Given the description of an element on the screen output the (x, y) to click on. 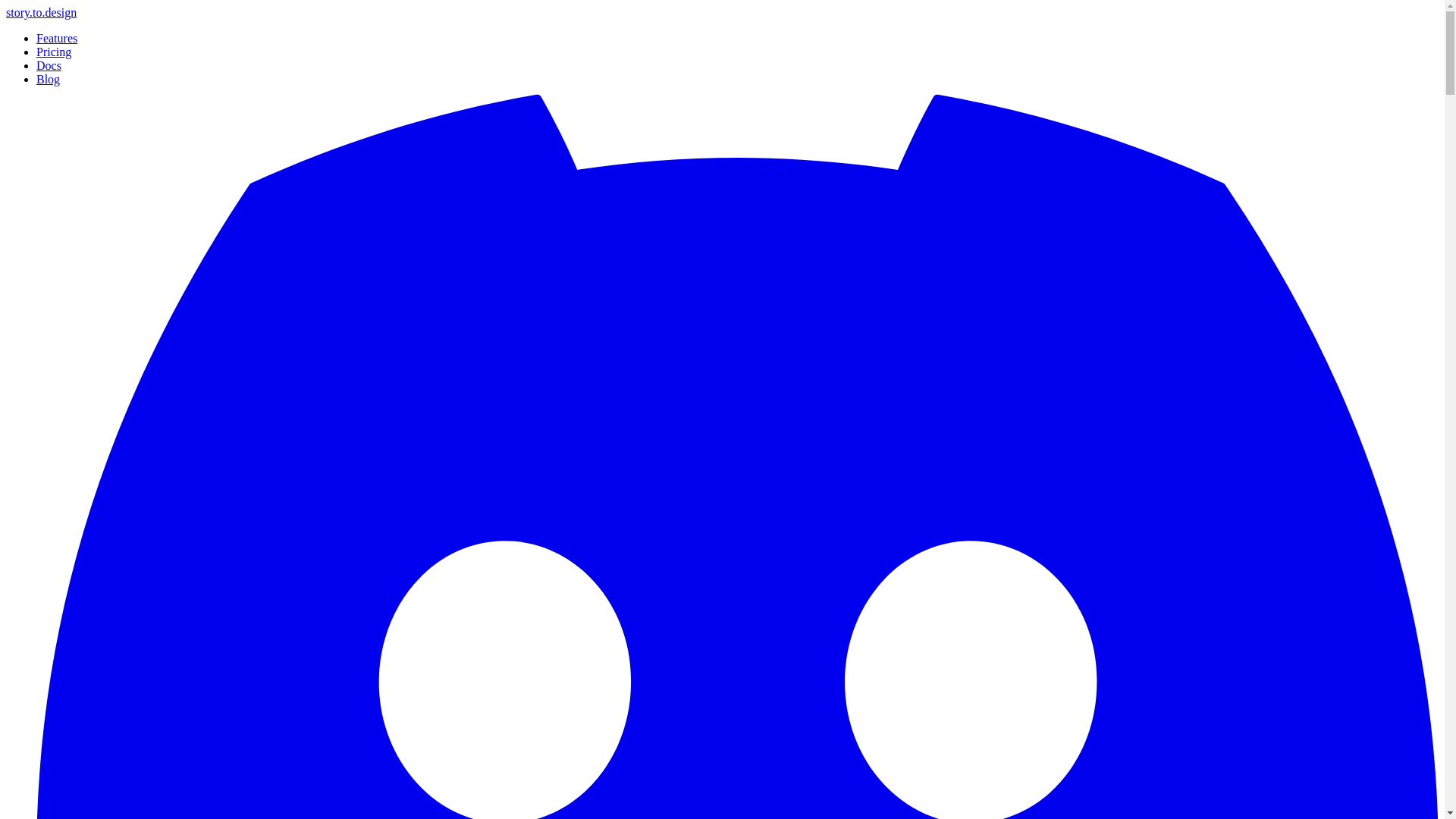
Docs (48, 65)
Blog (47, 78)
story.to.design (41, 11)
Features (56, 38)
Pricing (53, 51)
